Given the description of an element on the screen output the (x, y) to click on. 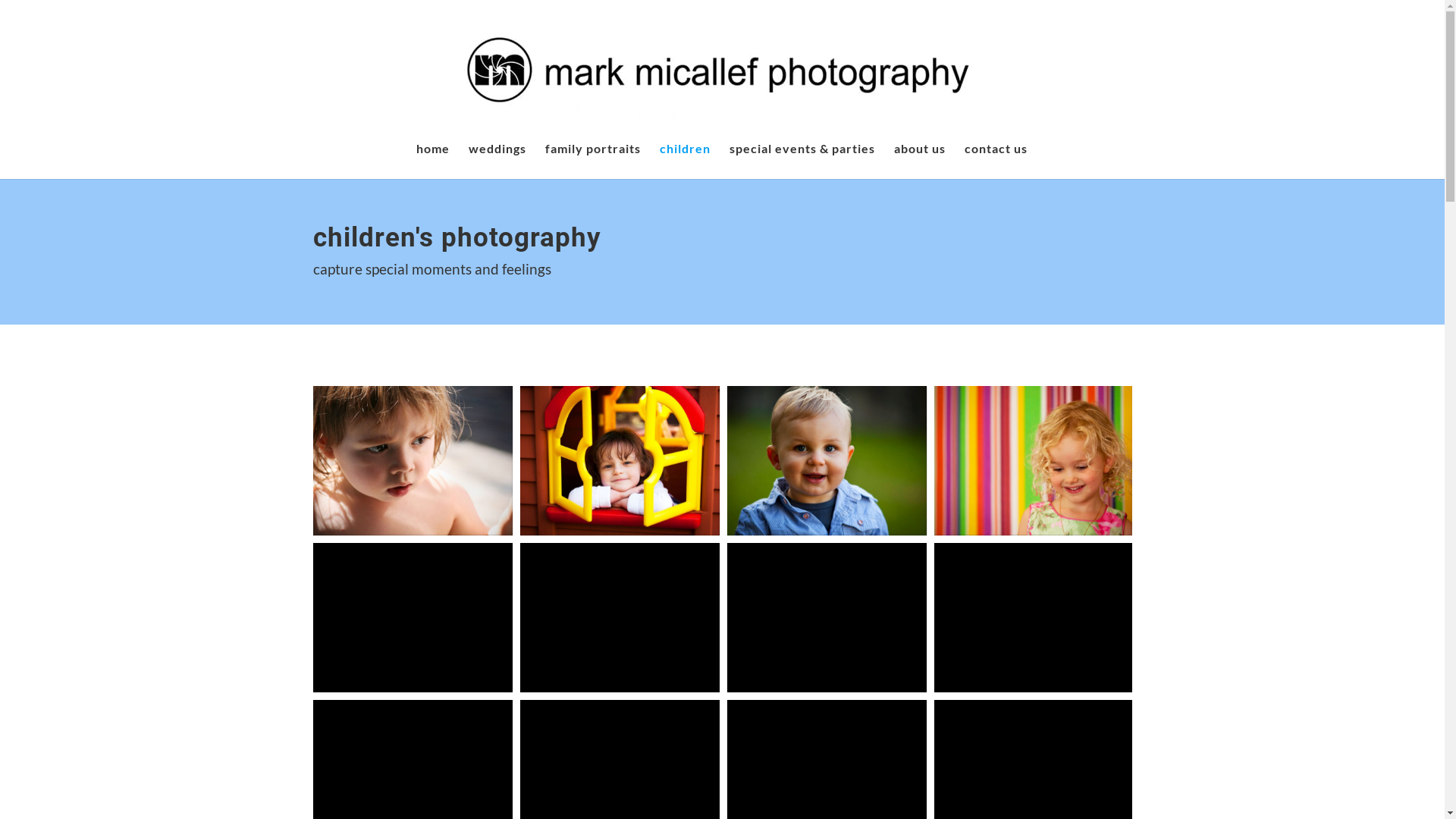
special events & parties Element type: text (802, 160)
contact us Element type: text (995, 160)
home Element type: text (431, 160)
weddings Element type: text (497, 160)
about us Element type: text (918, 160)
family portraits Element type: text (592, 160)
children Element type: text (684, 160)
